Given the description of an element on the screen output the (x, y) to click on. 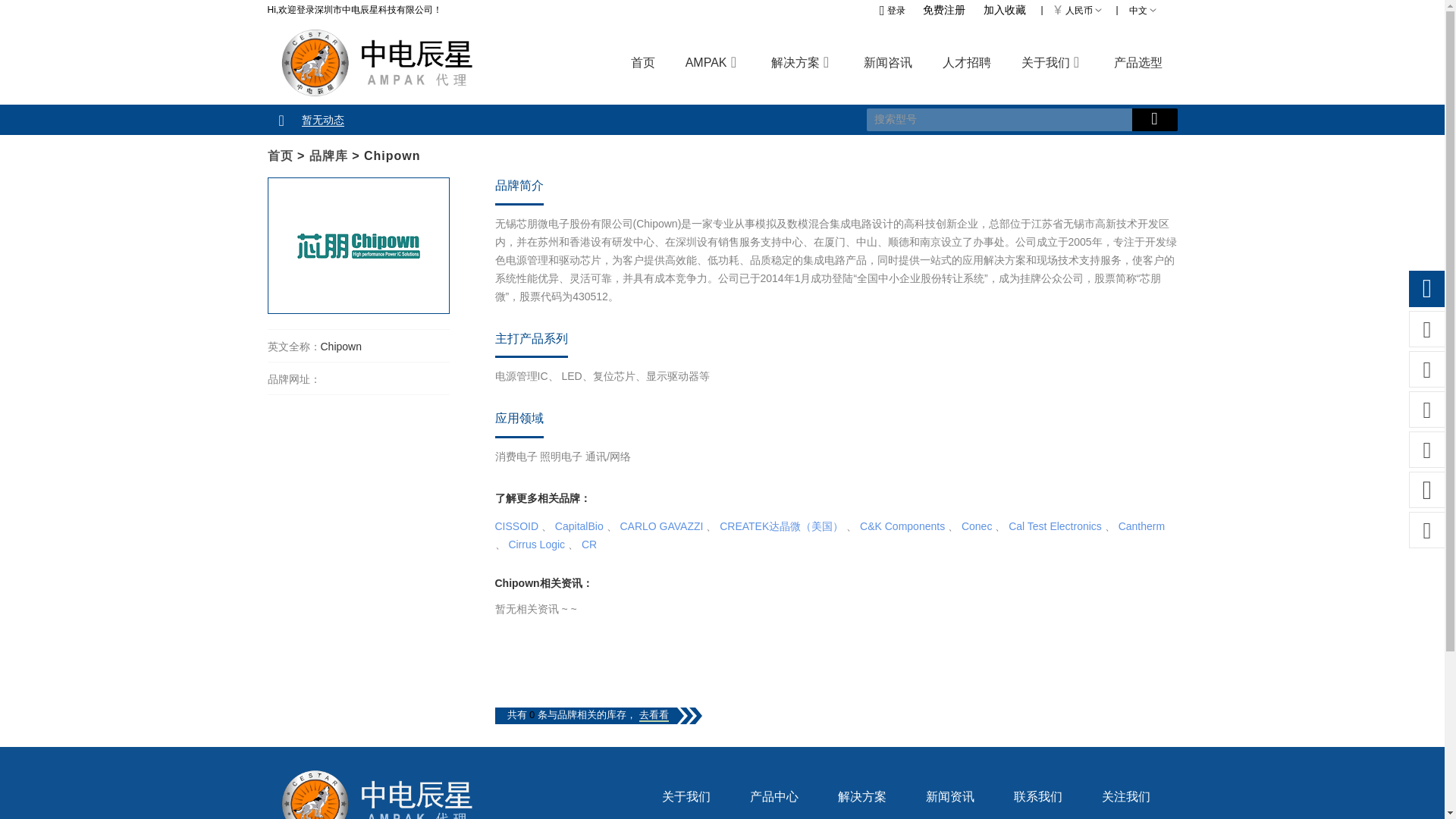
CapitalBio (579, 526)
CISSOID (516, 526)
Conec (975, 526)
Cal Test Electronics (1055, 526)
CARLO GAVAZZI (661, 526)
Cirrus Logic (536, 544)
Cantherm (1141, 526)
CR (588, 544)
AMPAK (705, 62)
